Given the description of an element on the screen output the (x, y) to click on. 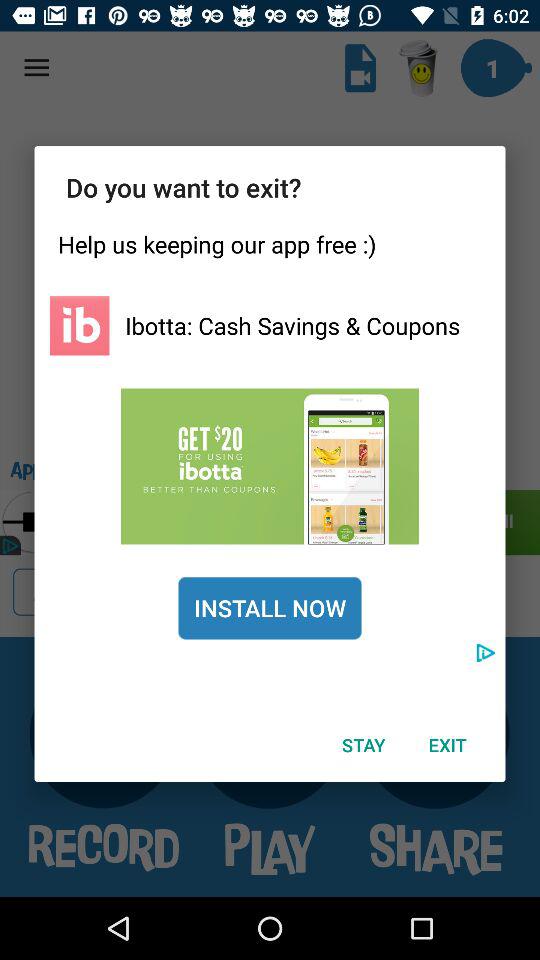
choose the icon next to exit item (363, 744)
